Given the description of an element on the screen output the (x, y) to click on. 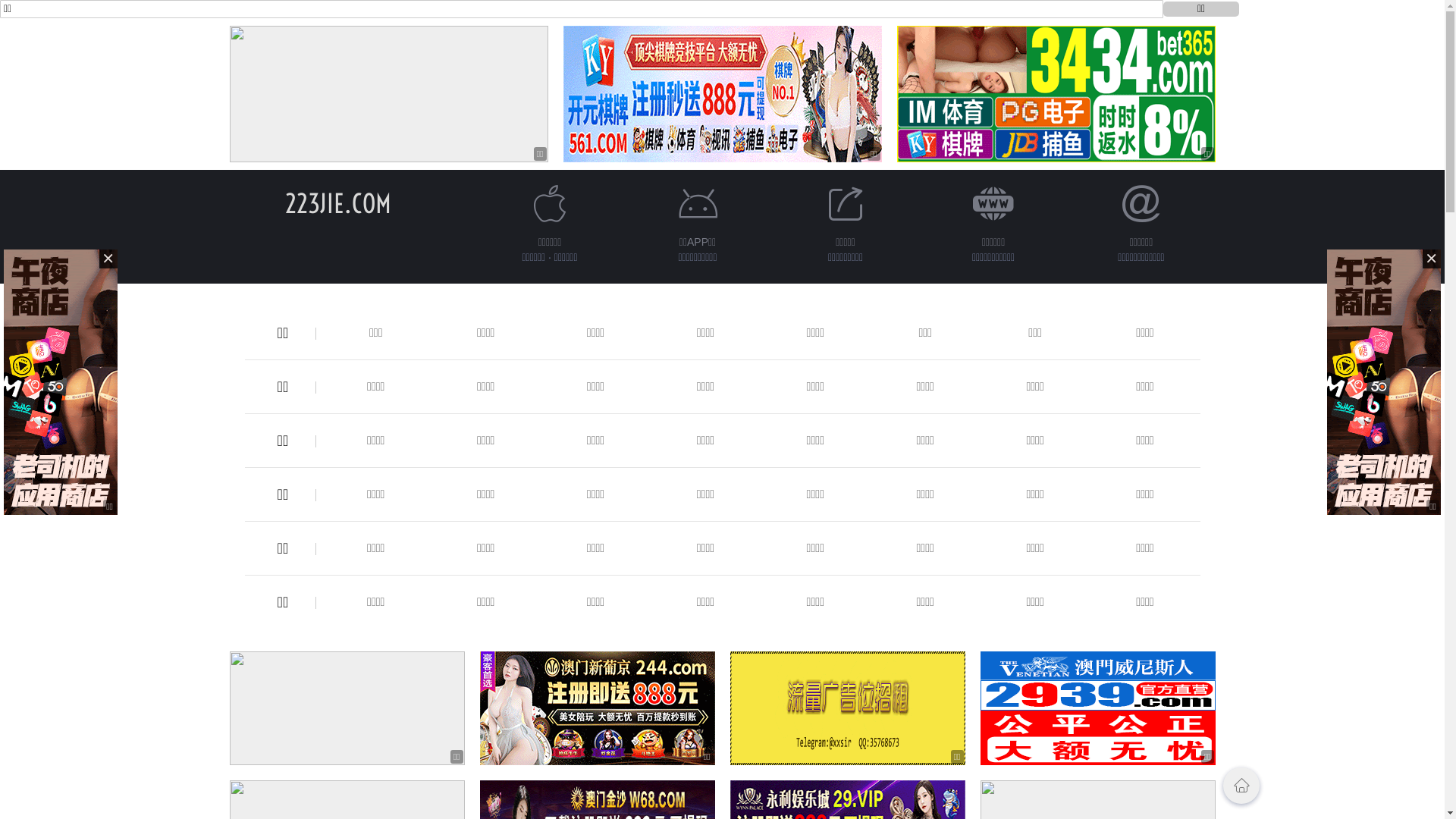
223JIE.COM Element type: text (338, 203)
